Given the description of an element on the screen output the (x, y) to click on. 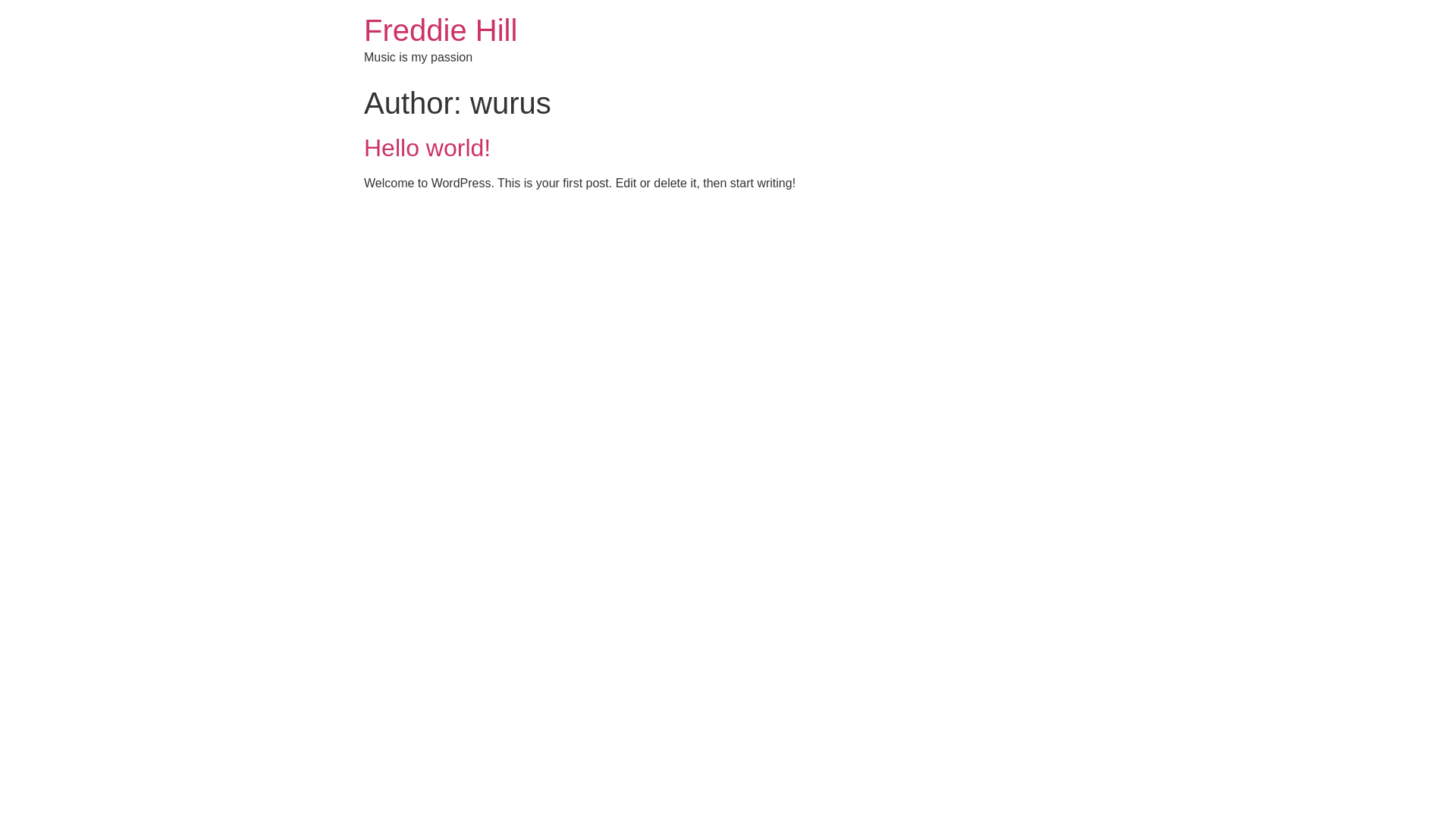
Hello world! Element type: text (427, 147)
Freddie Hill Element type: text (440, 30)
